Given the description of an element on the screen output the (x, y) to click on. 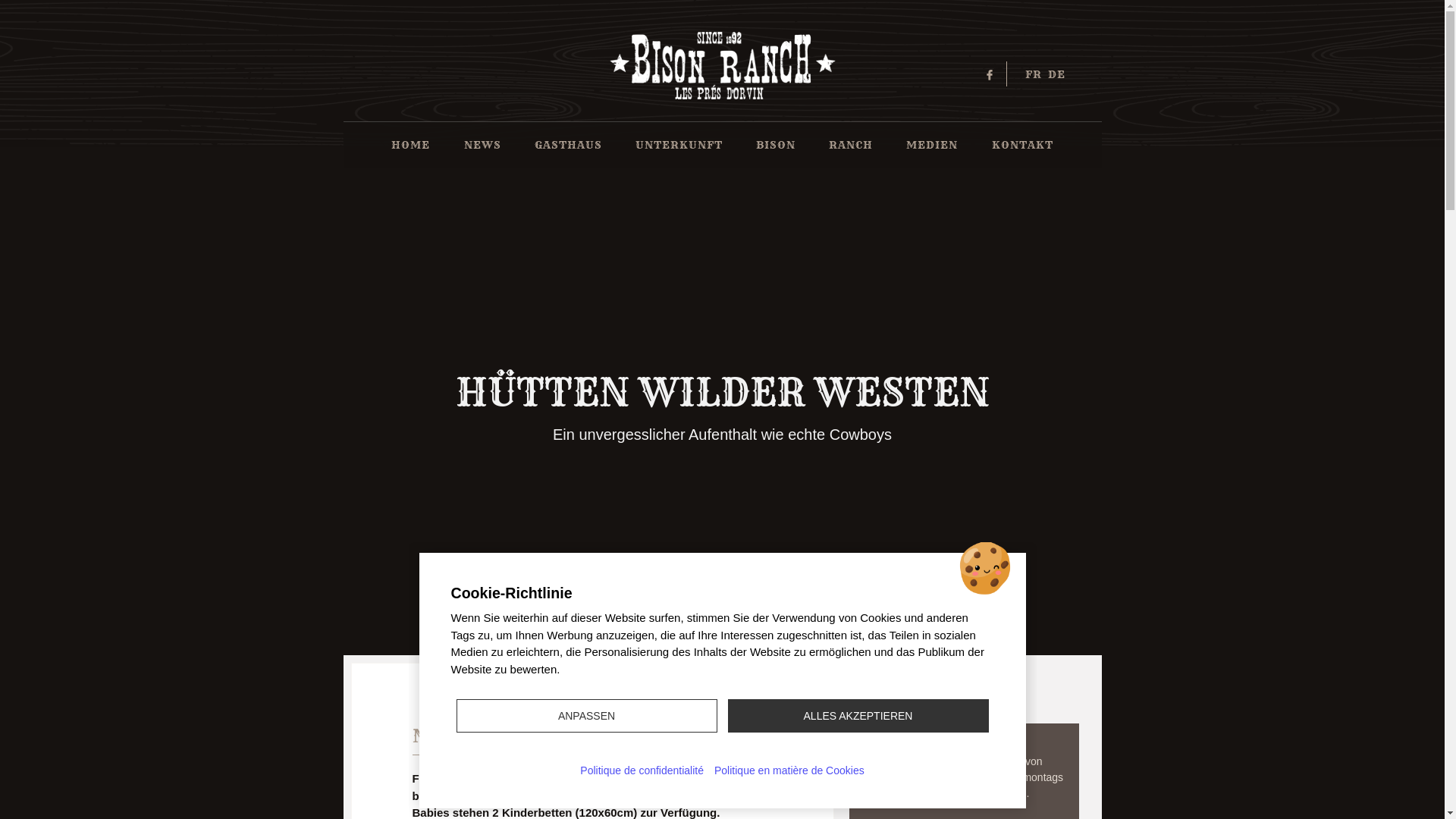
FR Element type: text (1033, 74)
KONTAKT Element type: text (1022, 145)
DE Element type: text (1056, 74)
UNTERKUNFT Element type: text (678, 145)
MEDIEN Element type: text (931, 145)
NEWS Element type: text (482, 145)
GASTHAUS Element type: text (568, 145)
BISON Element type: text (775, 145)
HOME Element type: text (410, 145)
RANCH Element type: text (850, 145)
Bison Ranch Element type: text (721, 60)
ALLES AKZEPTIEREN Element type: text (858, 715)
ANPASSEN Element type: text (586, 715)
